Given the description of an element on the screen output the (x, y) to click on. 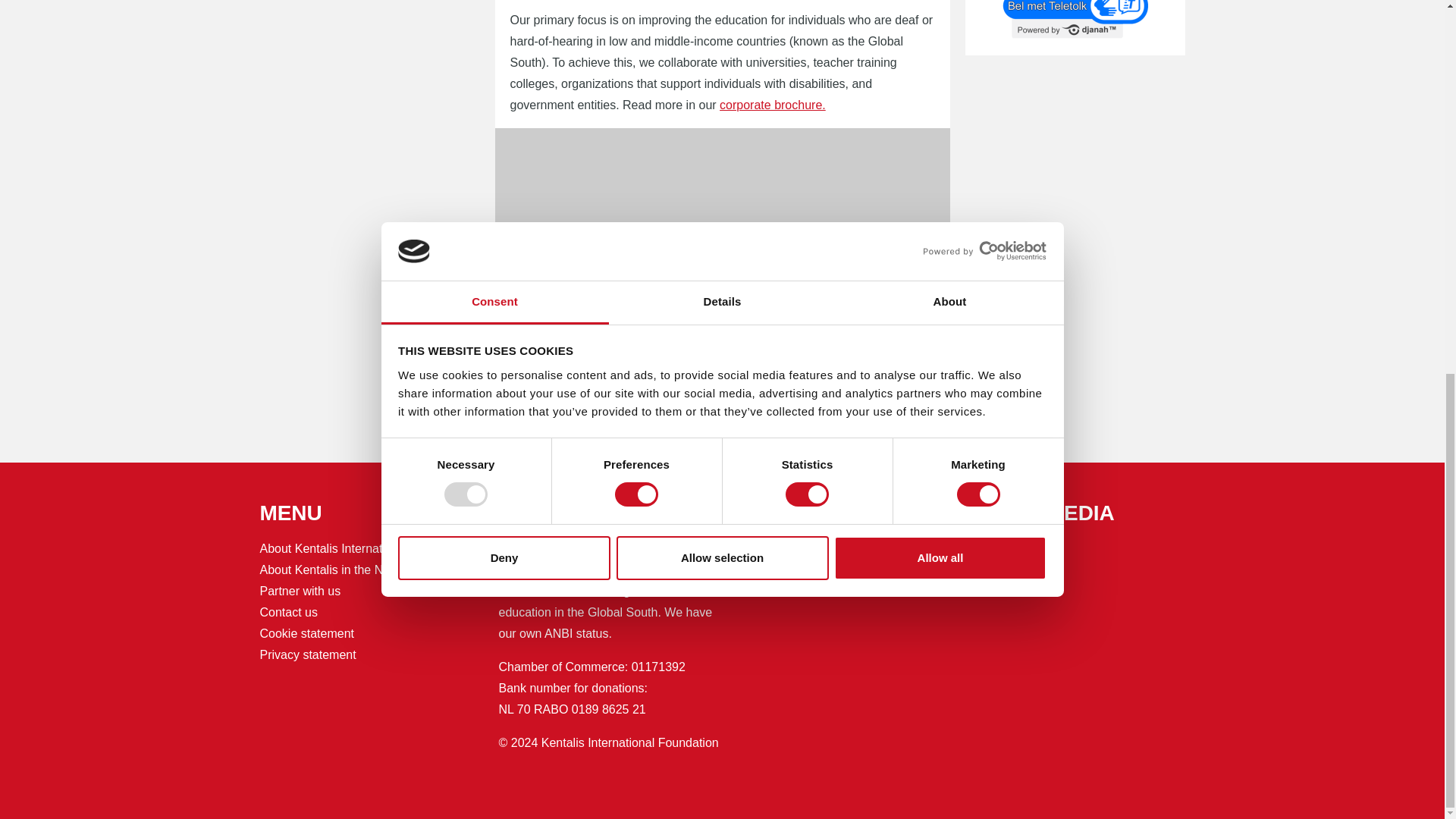
Manage cookies (721, 278)
